Given the description of an element on the screen output the (x, y) to click on. 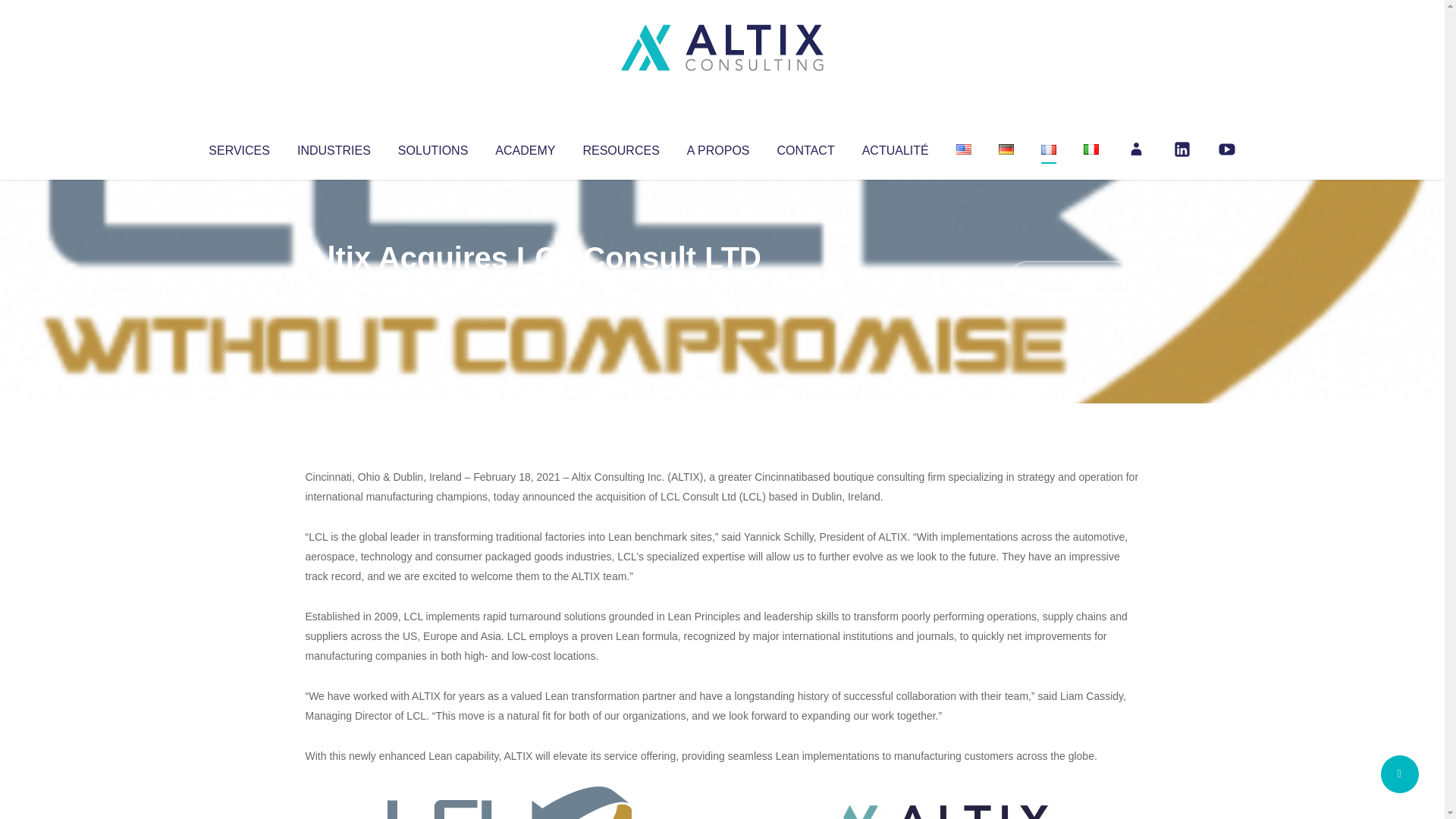
Uncategorized (530, 287)
Altix (333, 287)
Articles par Altix (333, 287)
SOLUTIONS (432, 146)
SERVICES (238, 146)
No Comments (1073, 278)
RESOURCES (620, 146)
ACADEMY (524, 146)
A PROPOS (718, 146)
INDUSTRIES (334, 146)
